Given the description of an element on the screen output the (x, y) to click on. 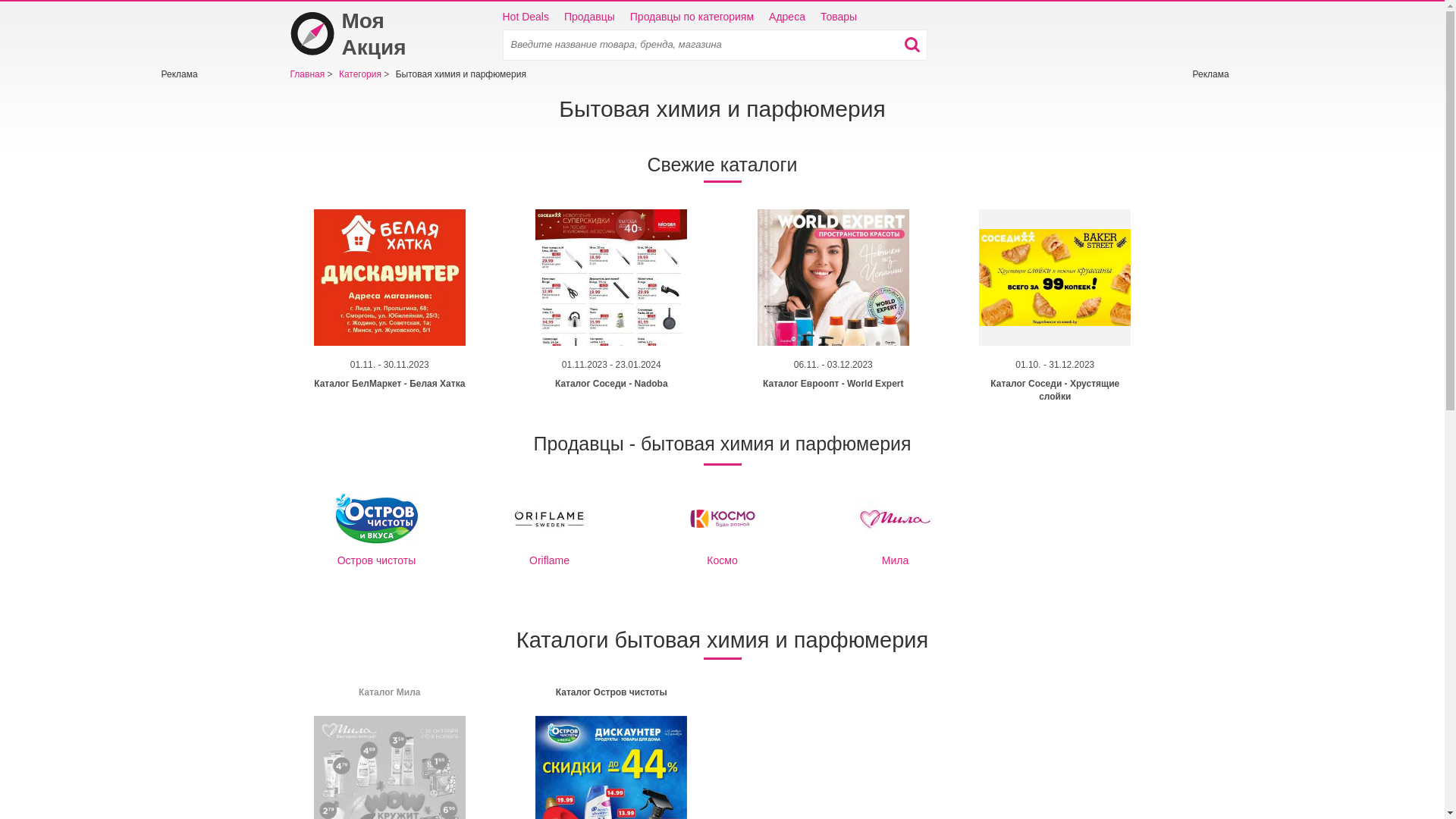
Advertisement Element type: hover (205, 308)
Oriflame Element type: text (549, 529)
01.10. - 31.12.2023 Element type: text (1054, 367)
Hot Deals Element type: text (525, 16)
Oriflame Element type: hover (549, 518)
06.11. - 03.12.2023 Element type: text (833, 367)
01.11. - 30.11.2023 Element type: text (389, 367)
01.11.2023 - 23.01.2024 Element type: text (611, 367)
Advertisement Element type: hover (1237, 308)
